Given the description of an element on the screen output the (x, y) to click on. 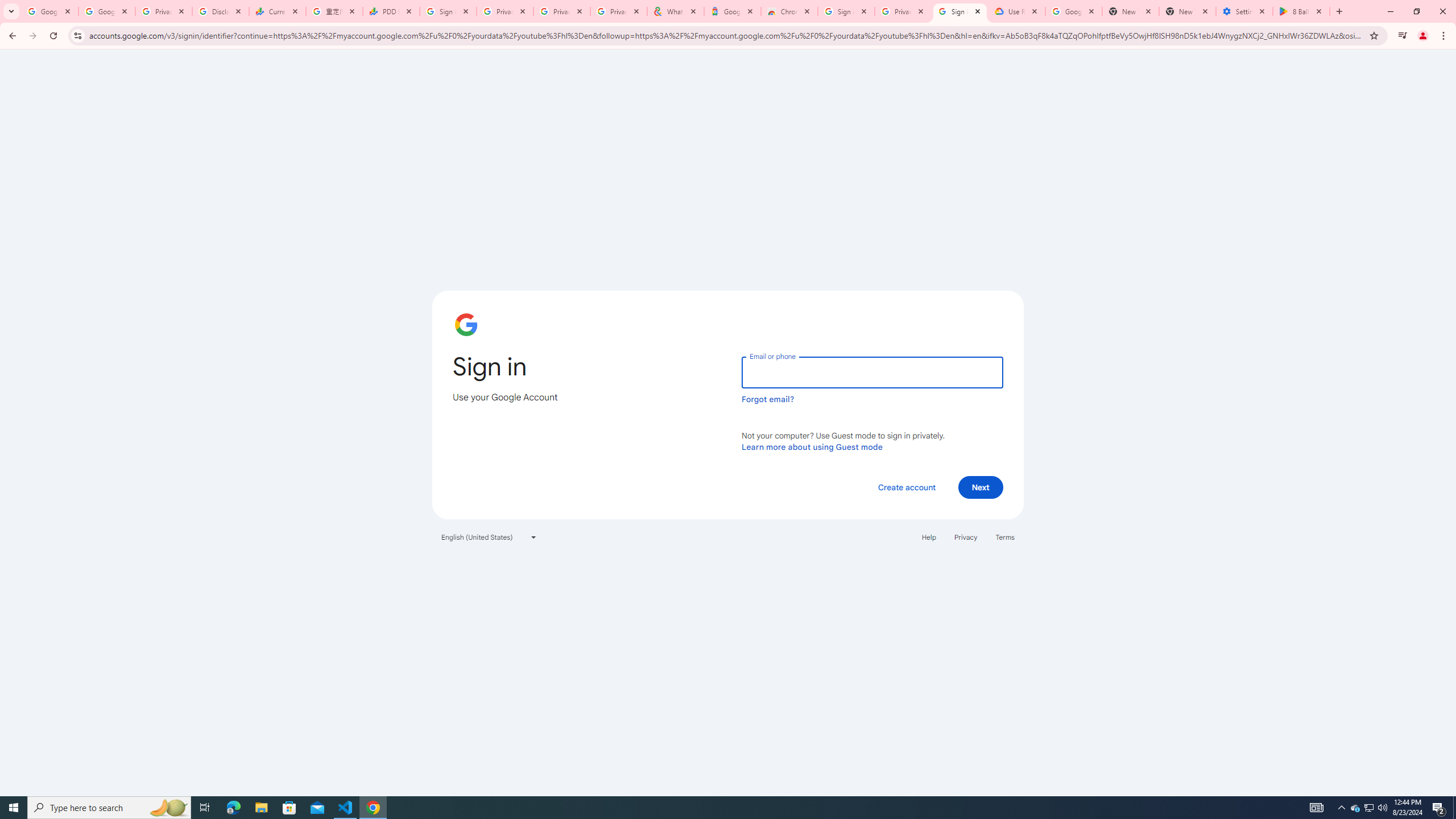
Privacy Checkup (618, 11)
Chrome Web Store - Color themes by Chrome (788, 11)
Sign in - Google Accounts (447, 11)
Privacy Checkup (561, 11)
Forgot email? (767, 398)
Settings - System (1244, 11)
